Given the description of an element on the screen output the (x, y) to click on. 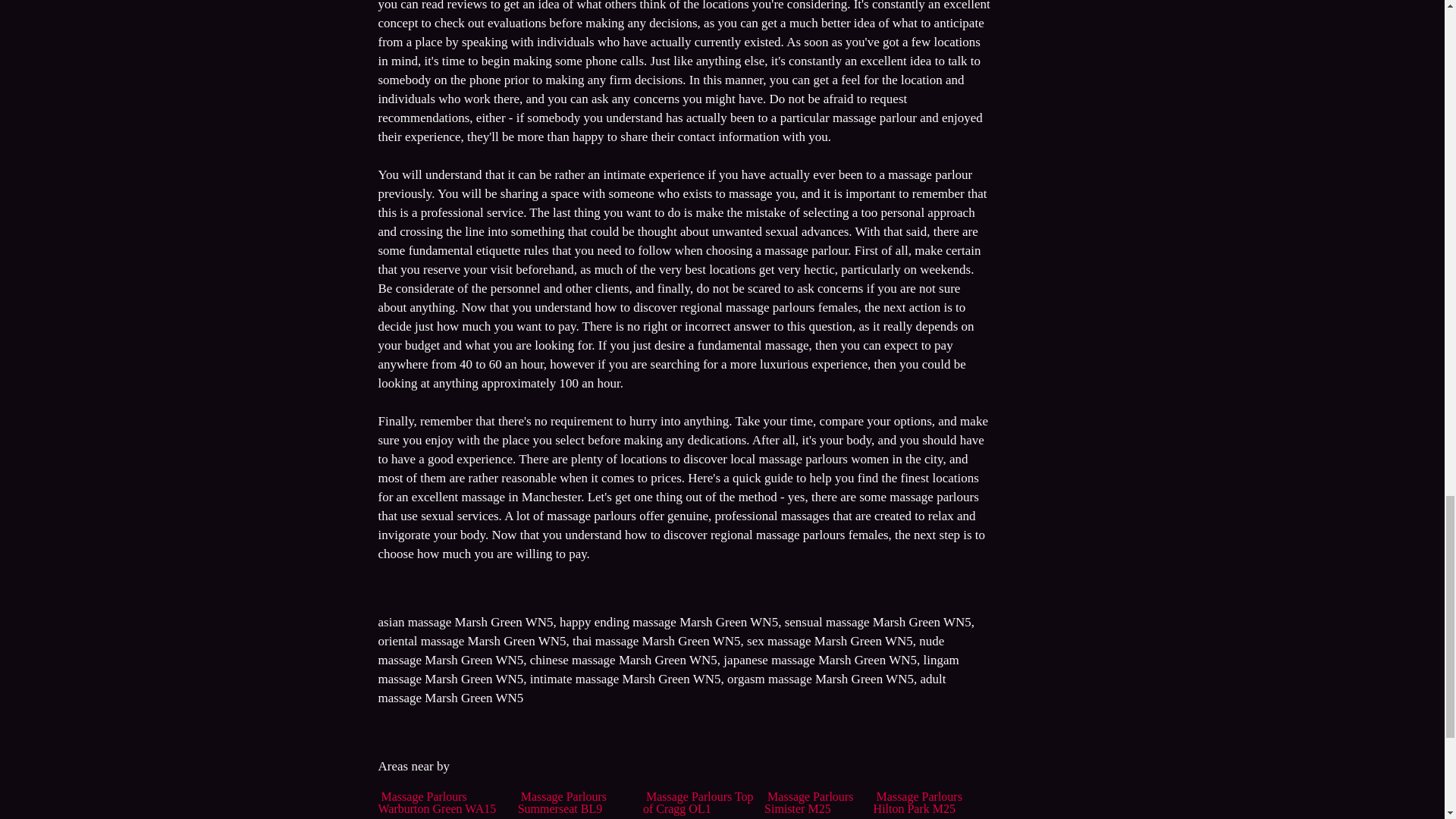
Massage Parlours Top of Cragg OL1 (698, 802)
Massage Parlours Simister M25 (808, 802)
Massage Parlours Warburton Green WA15 (436, 802)
Massage Parlours Summerseat BL9 (562, 802)
Massage Parlours Hilton Park M25 (917, 802)
